Given the description of an element on the screen output the (x, y) to click on. 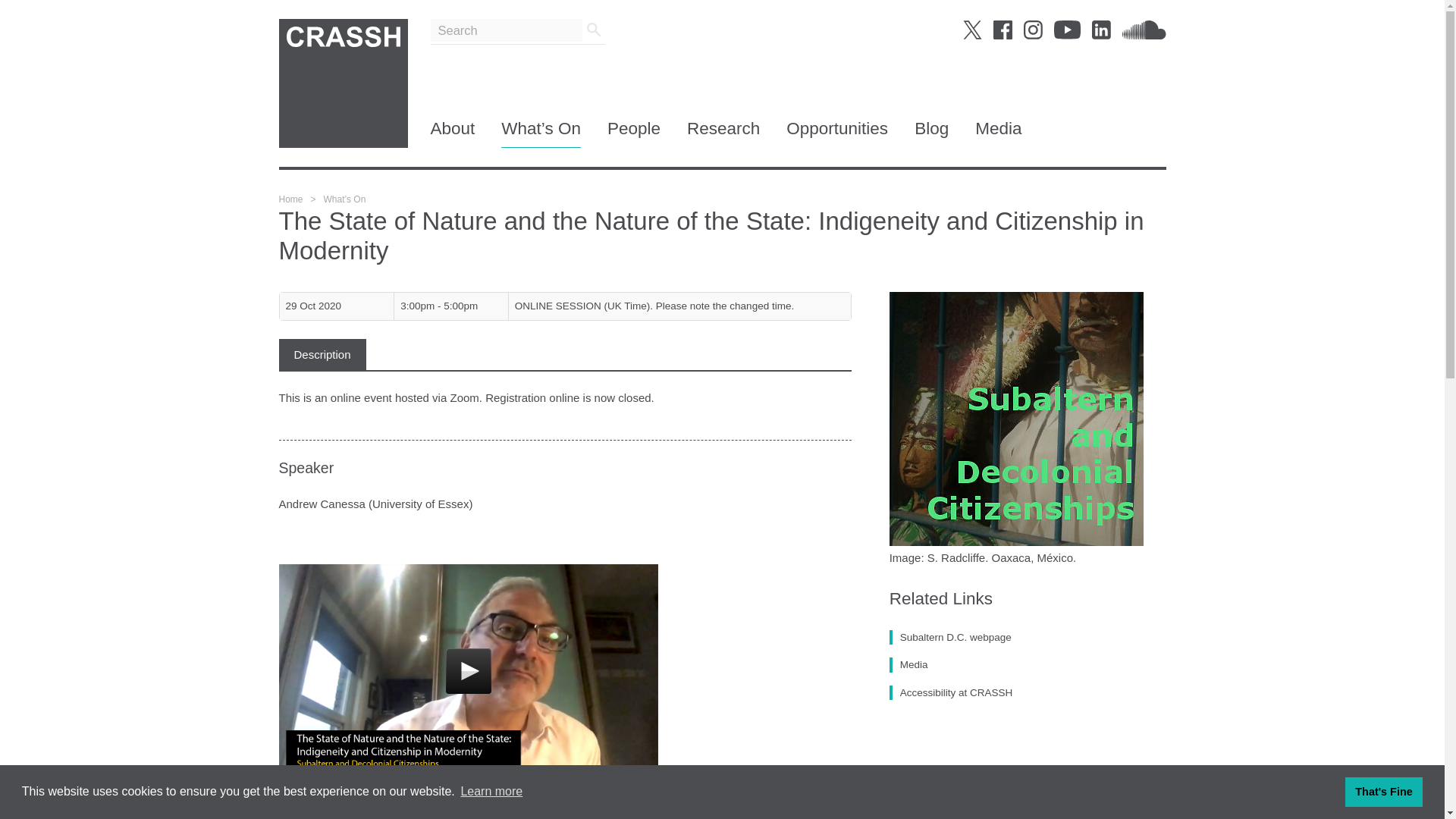
About (453, 132)
Opportunities (837, 132)
Media (998, 132)
That's Fine (1383, 791)
Learn more (491, 791)
People (634, 132)
Home (290, 199)
Research (723, 132)
Accessibility at CRASSH (951, 693)
Media (908, 664)
Blog (931, 132)
Subaltern D.C. webpage (950, 636)
